Given the description of an element on the screen output the (x, y) to click on. 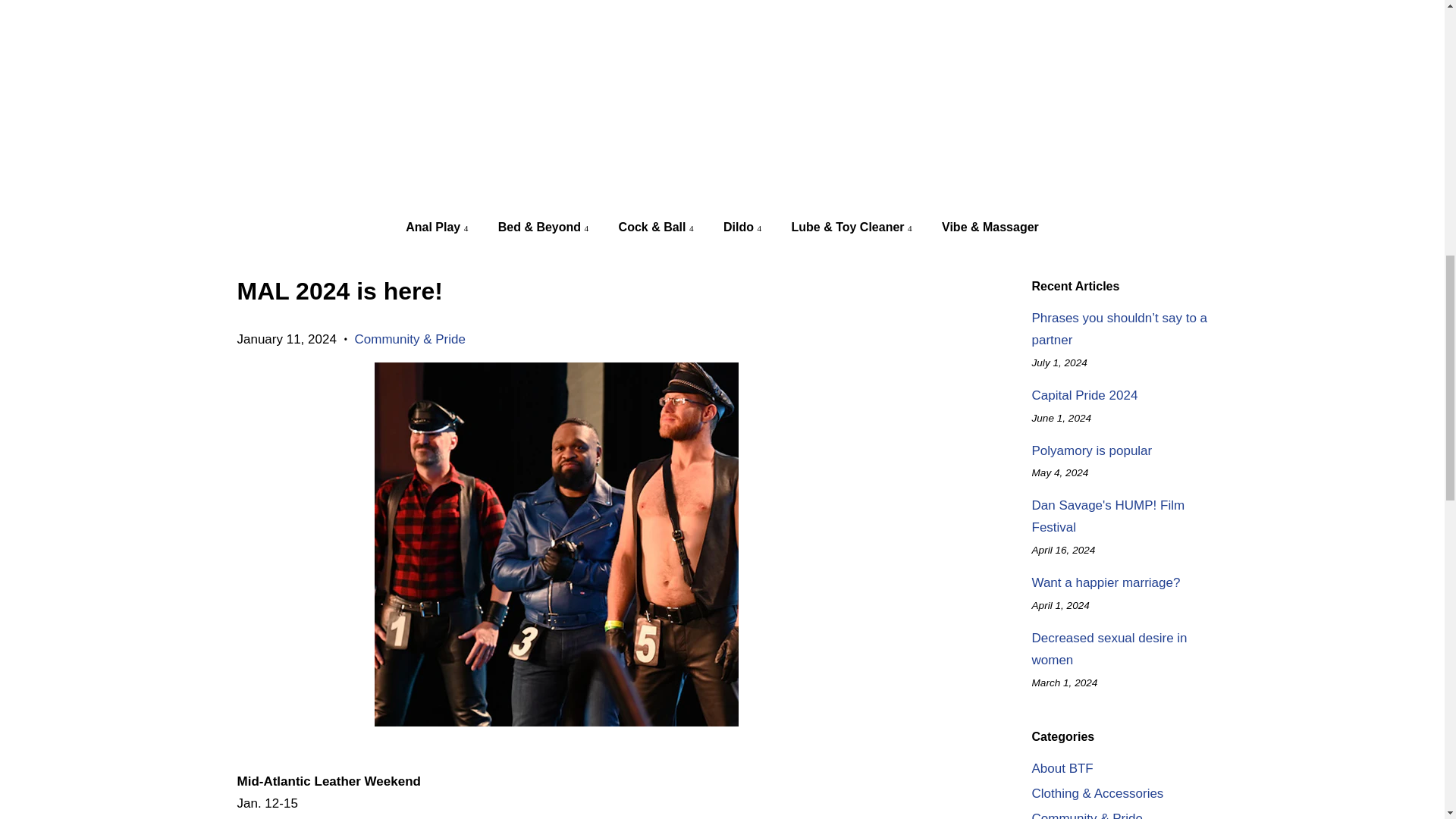
Show articles tagged About BTF (1061, 768)
